Given the description of an element on the screen output the (x, y) to click on. 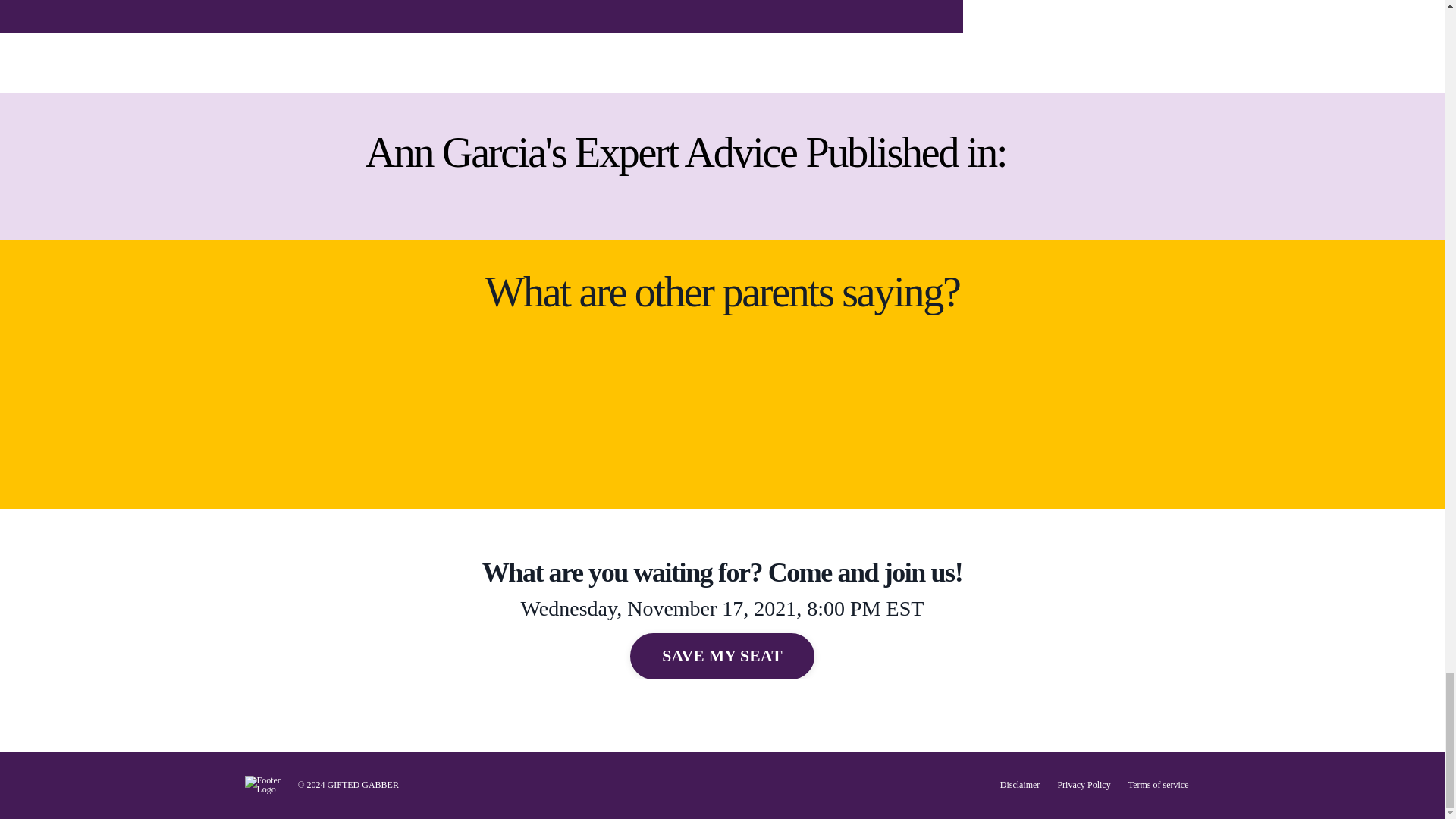
SAVE MY SEAT (721, 655)
Privacy Policy (1083, 784)
Disclaimer (1020, 784)
Terms of service (1158, 784)
